Given the description of an element on the screen output the (x, y) to click on. 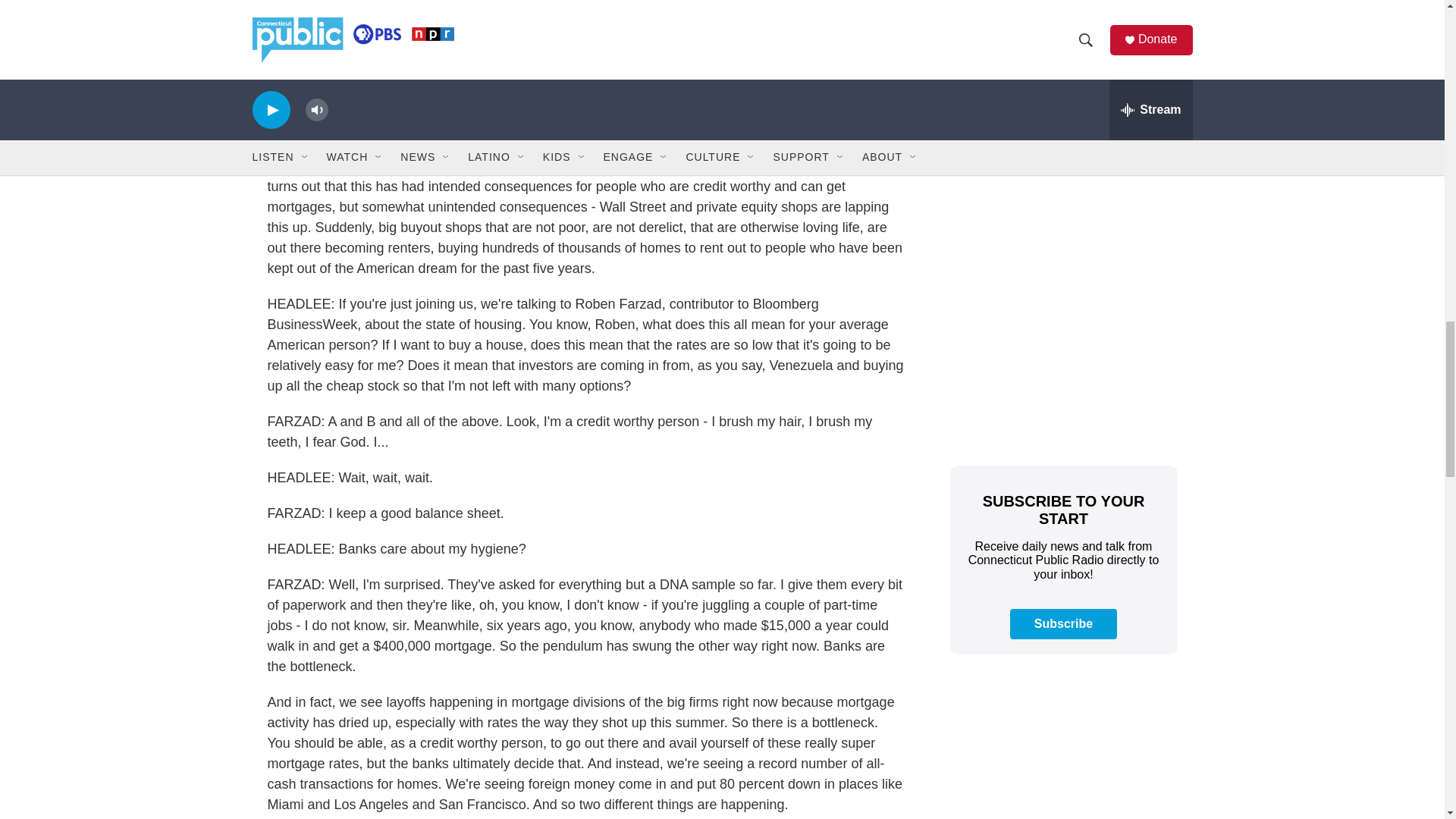
3rd party ad content (1062, 120)
3rd party ad content (1062, 751)
3rd party ad content (1062, 339)
